Given the description of an element on the screen output the (x, y) to click on. 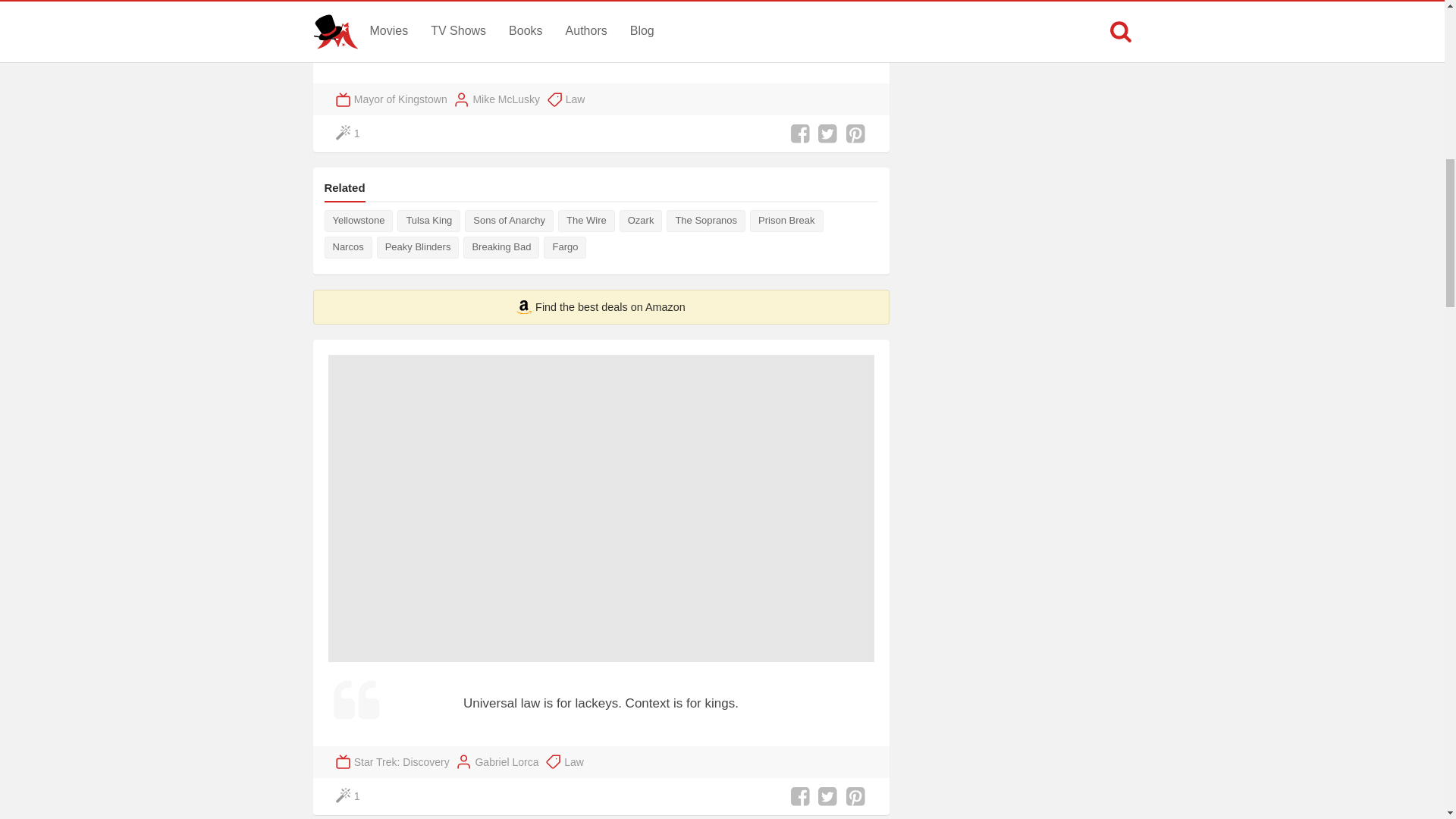
Do Some Magic! (348, 133)
Mayor of Kingstown (399, 98)
Sons of Anarchy (508, 220)
Yellowstone (358, 220)
Tulsa King (428, 220)
1 (348, 133)
Law (575, 98)
Mike McLusky (505, 98)
Do Some Magic! (348, 796)
